Given the description of an element on the screen output the (x, y) to click on. 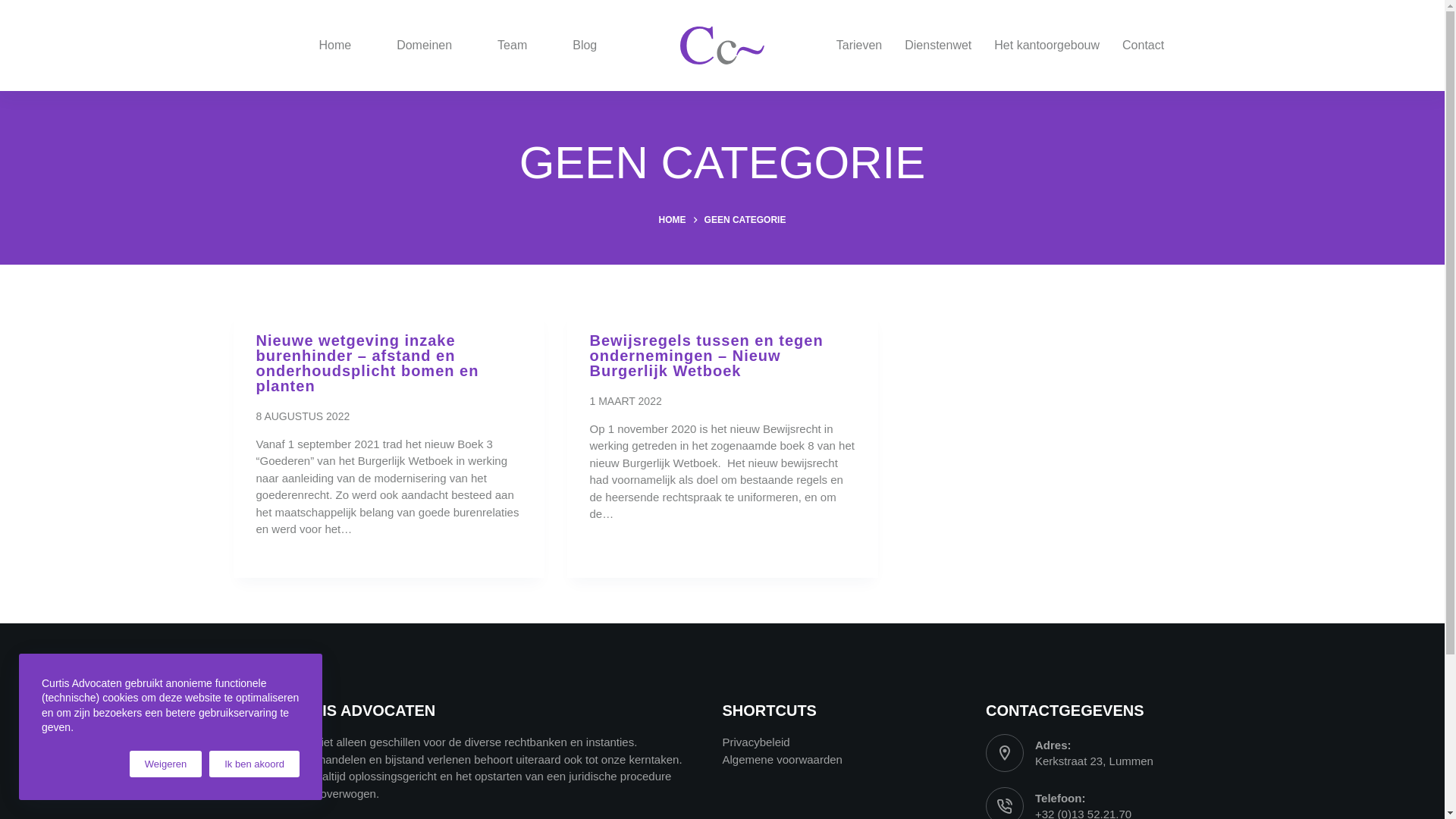
Dienstenwet Element type: text (937, 45)
Privacybeleid Element type: text (755, 741)
Het kantoorgebouw Element type: text (1046, 45)
Blog Element type: text (584, 45)
Team Element type: text (511, 45)
Home Element type: text (334, 45)
Contact Element type: text (1142, 45)
Weigeren Element type: text (165, 763)
Tarieven Element type: text (859, 45)
Domeinen Element type: text (423, 45)
Algemene voorwaarden Element type: text (781, 759)
Ik ben akoord Element type: text (254, 763)
HOME Element type: text (672, 219)
Skip to content Element type: text (15, 7)
